Given the description of an element on the screen output the (x, y) to click on. 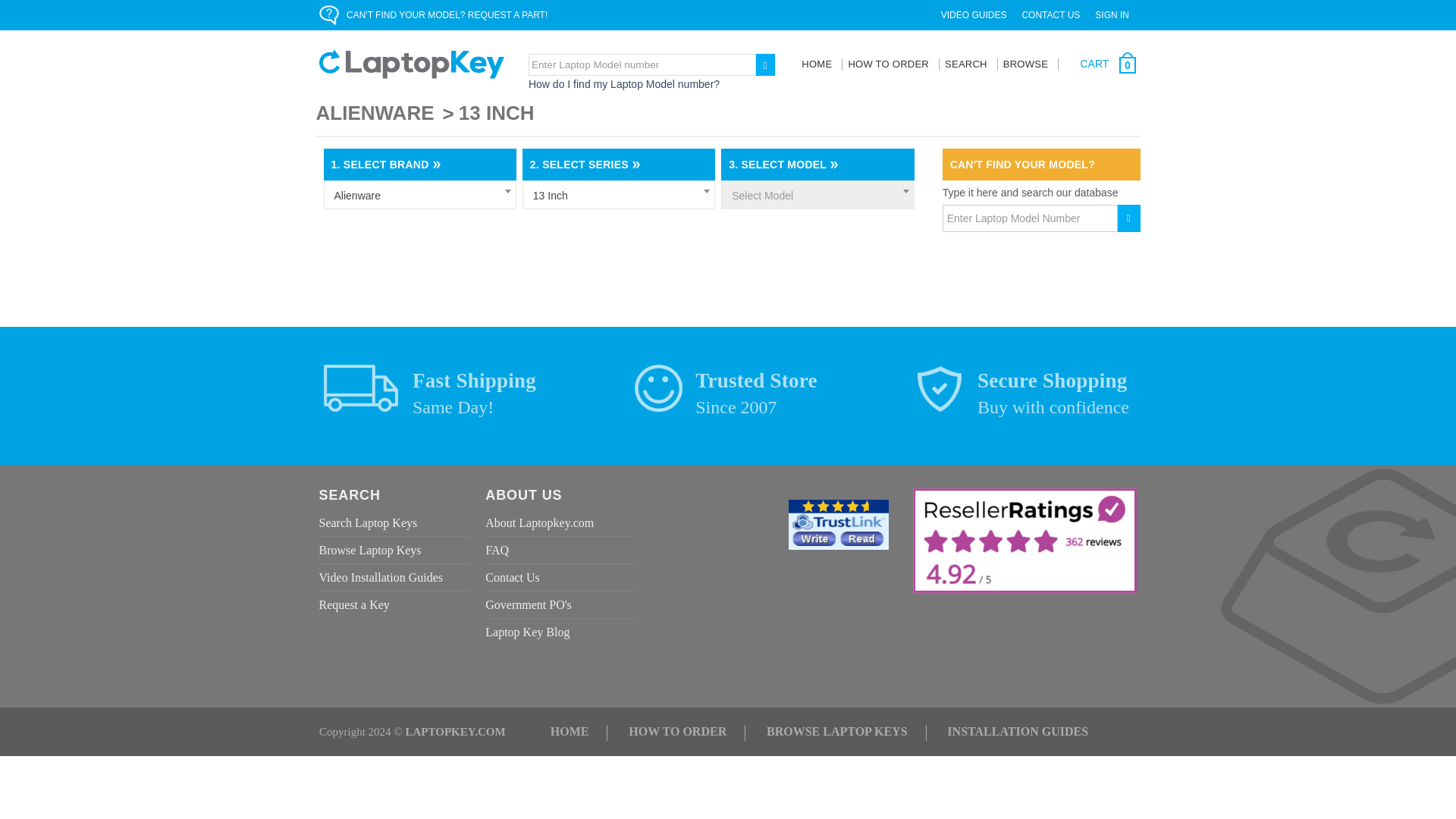
CONTACT US (1050, 14)
SIGN IN (1112, 14)
LaptopKey.com (410, 63)
trustlink-Reviews-Laptopkeycom (838, 523)
CAN'T FIND YOUR MODEL? REQUEST A PART! (446, 14)
Alienware (419, 195)
VIDEO GUIDES (973, 14)
13 Inch (618, 195)
